Given the description of an element on the screen output the (x, y) to click on. 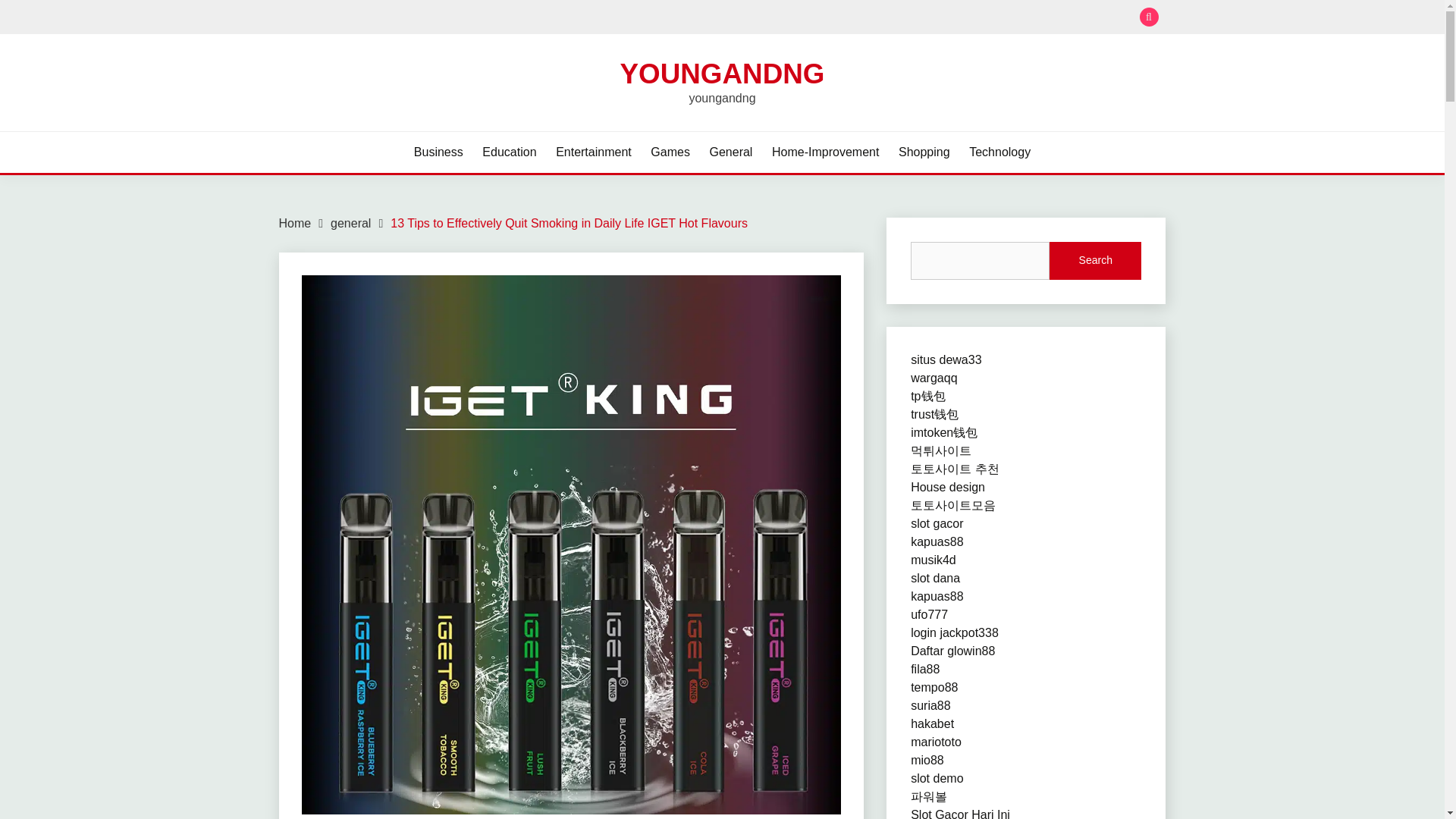
YOUNGANDNG (722, 73)
general (350, 223)
Search (1095, 260)
Shopping (924, 152)
wargaqq (933, 377)
Home-Improvement (825, 152)
situs dewa33 (946, 359)
Education (508, 152)
General (731, 152)
Home (295, 223)
Entertainment (593, 152)
Technology (999, 152)
Business (438, 152)
Games (670, 152)
